Given the description of an element on the screen output the (x, y) to click on. 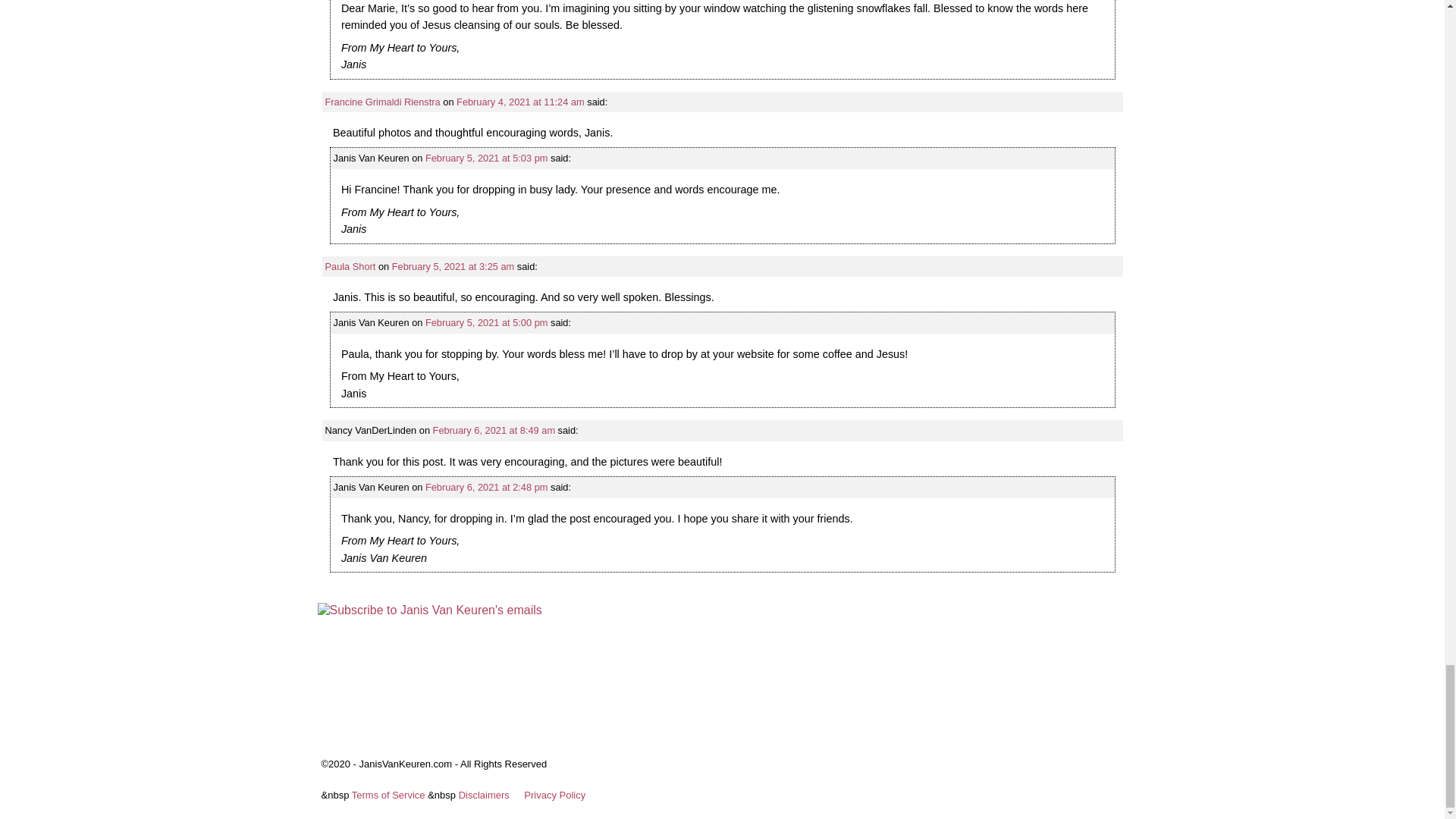
Subscribe to Janis Van Keuren's emails (429, 610)
